Given the description of an element on the screen output the (x, y) to click on. 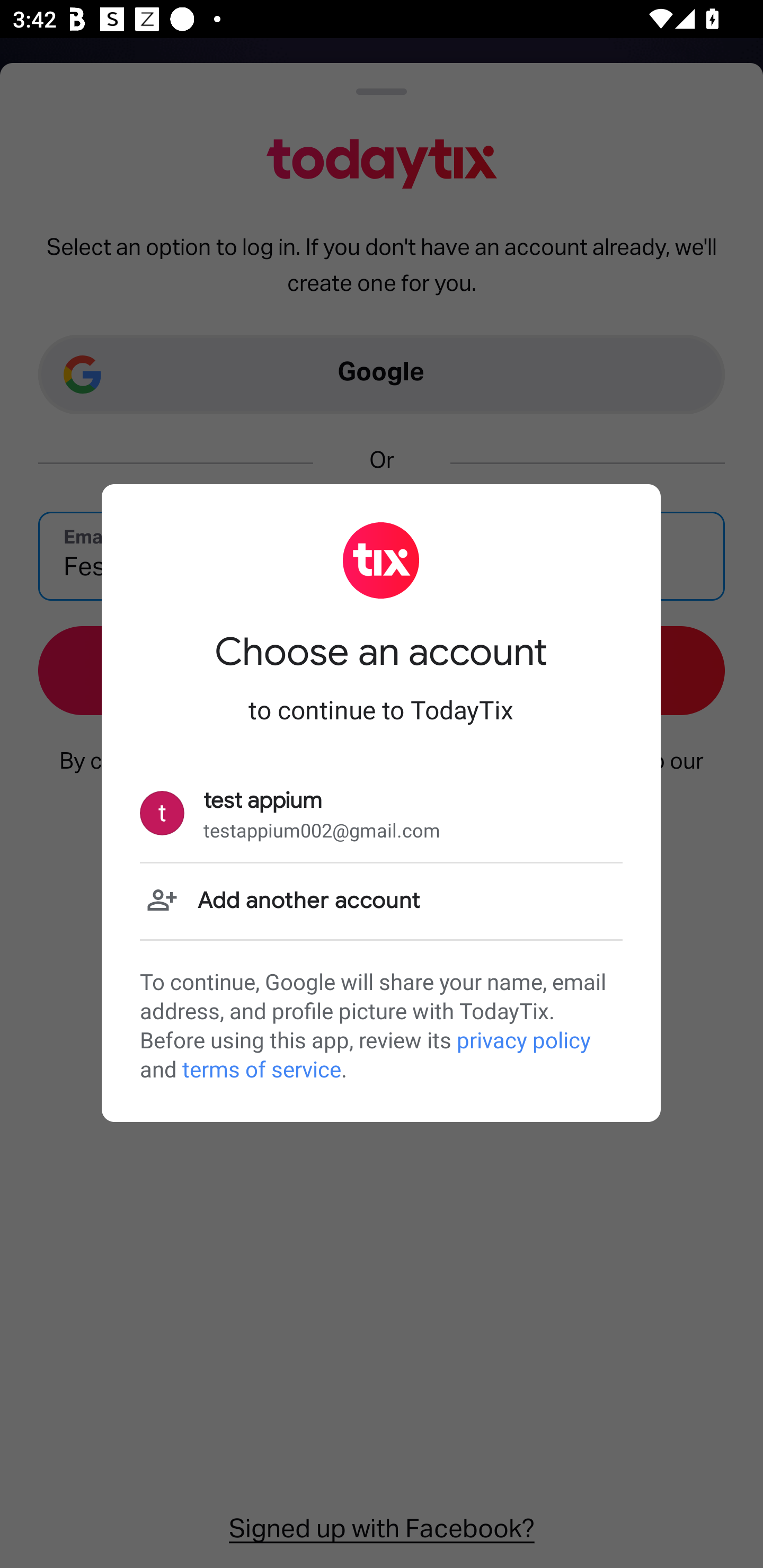
test appium testappium002@gmail.com (380, 813)
Add another account (380, 900)
